Given the description of an element on the screen output the (x, y) to click on. 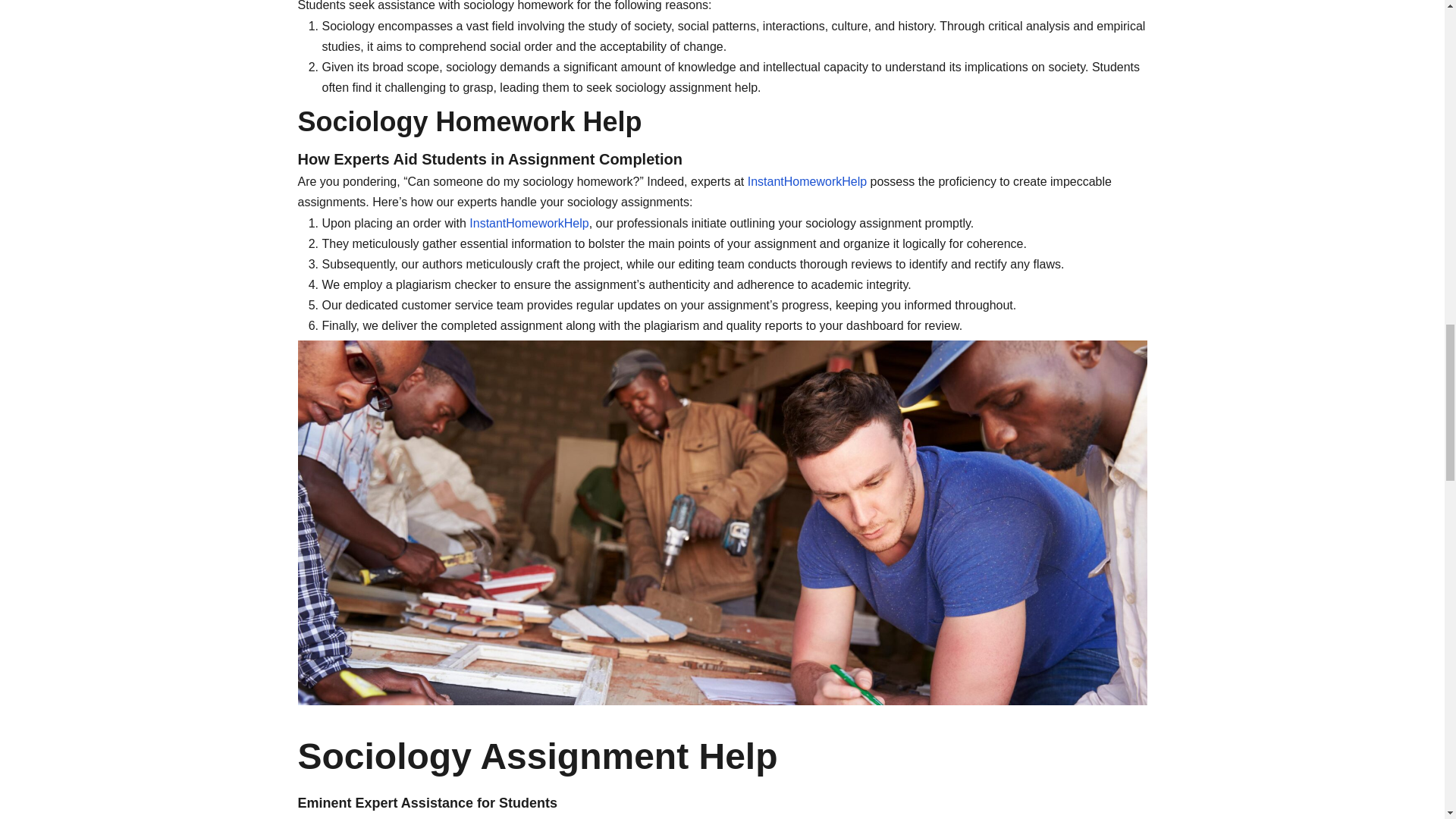
InstantHomeworkHelp (871, 818)
InstantHomeworkHelp (528, 223)
InstantHomeworkHelp (807, 181)
